Given the description of an element on the screen output the (x, y) to click on. 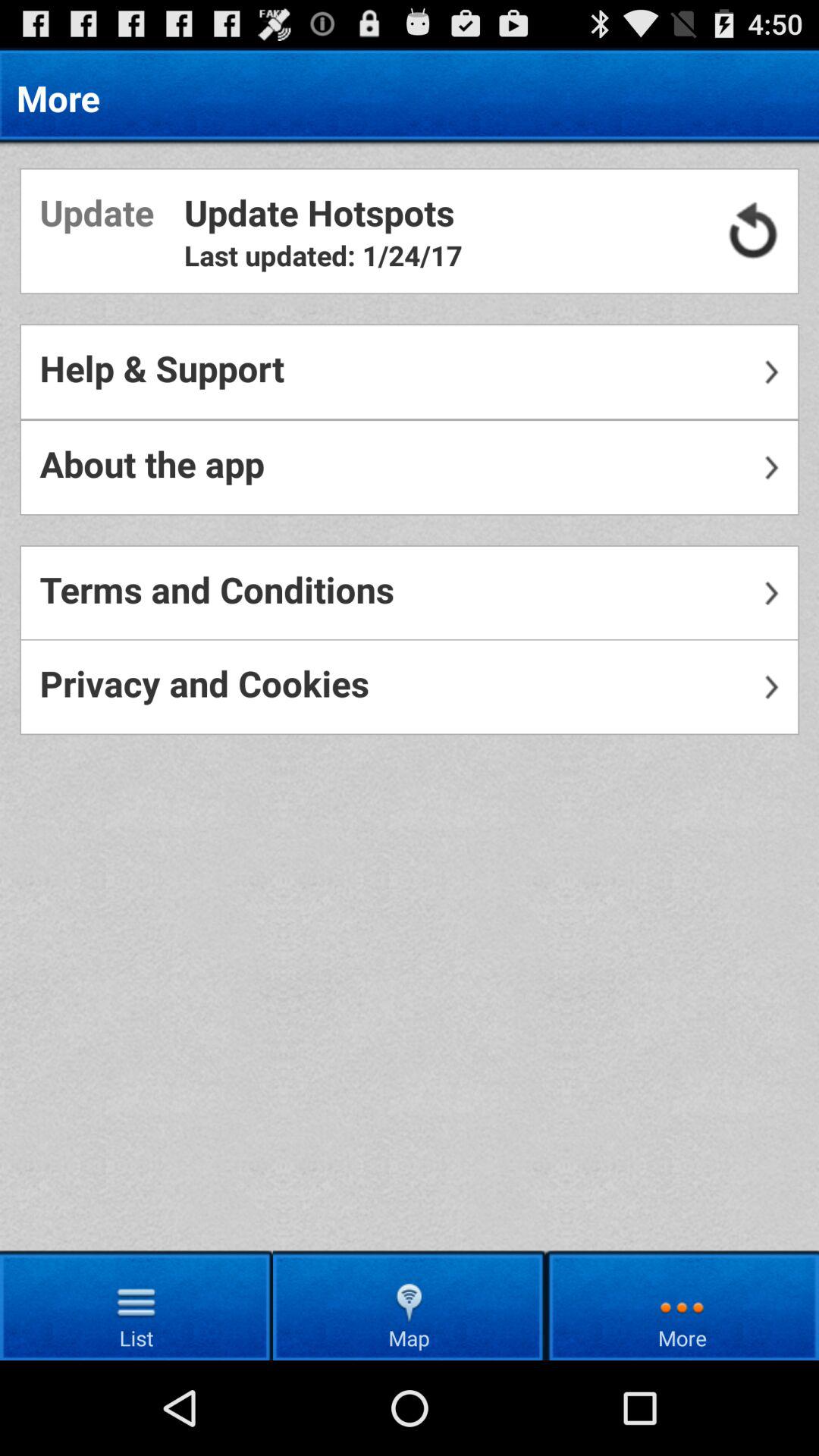
launch the item above the privacy and cookies (409, 592)
